Given the description of an element on the screen output the (x, y) to click on. 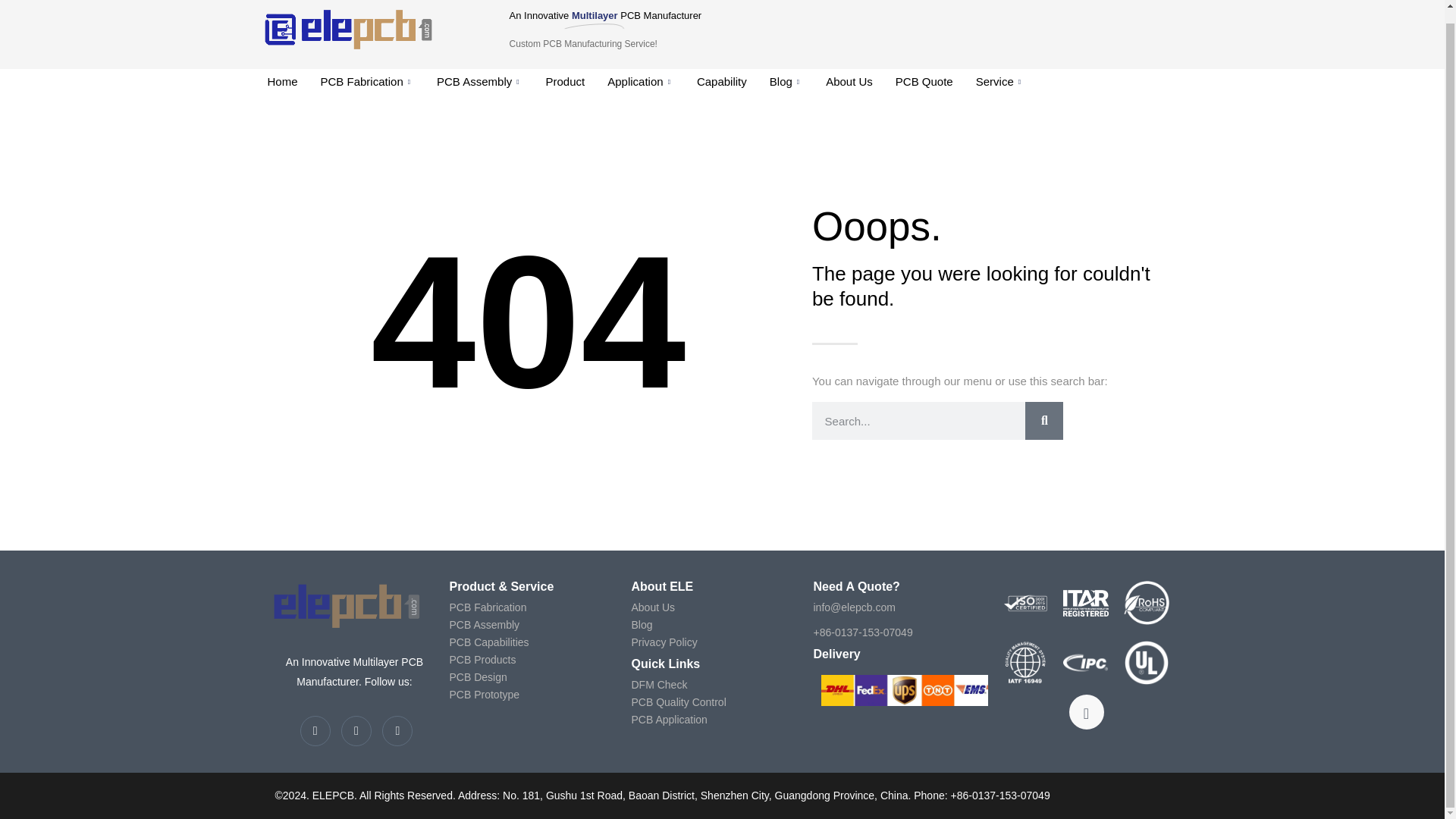
Blog (785, 81)
Application (640, 81)
Product (565, 81)
Home (282, 81)
PCB Assembly (479, 81)
Service (999, 81)
PCB Fabrication (367, 81)
PCB Quote (923, 81)
Capability (721, 81)
About Us (848, 81)
